Given the description of an element on the screen output the (x, y) to click on. 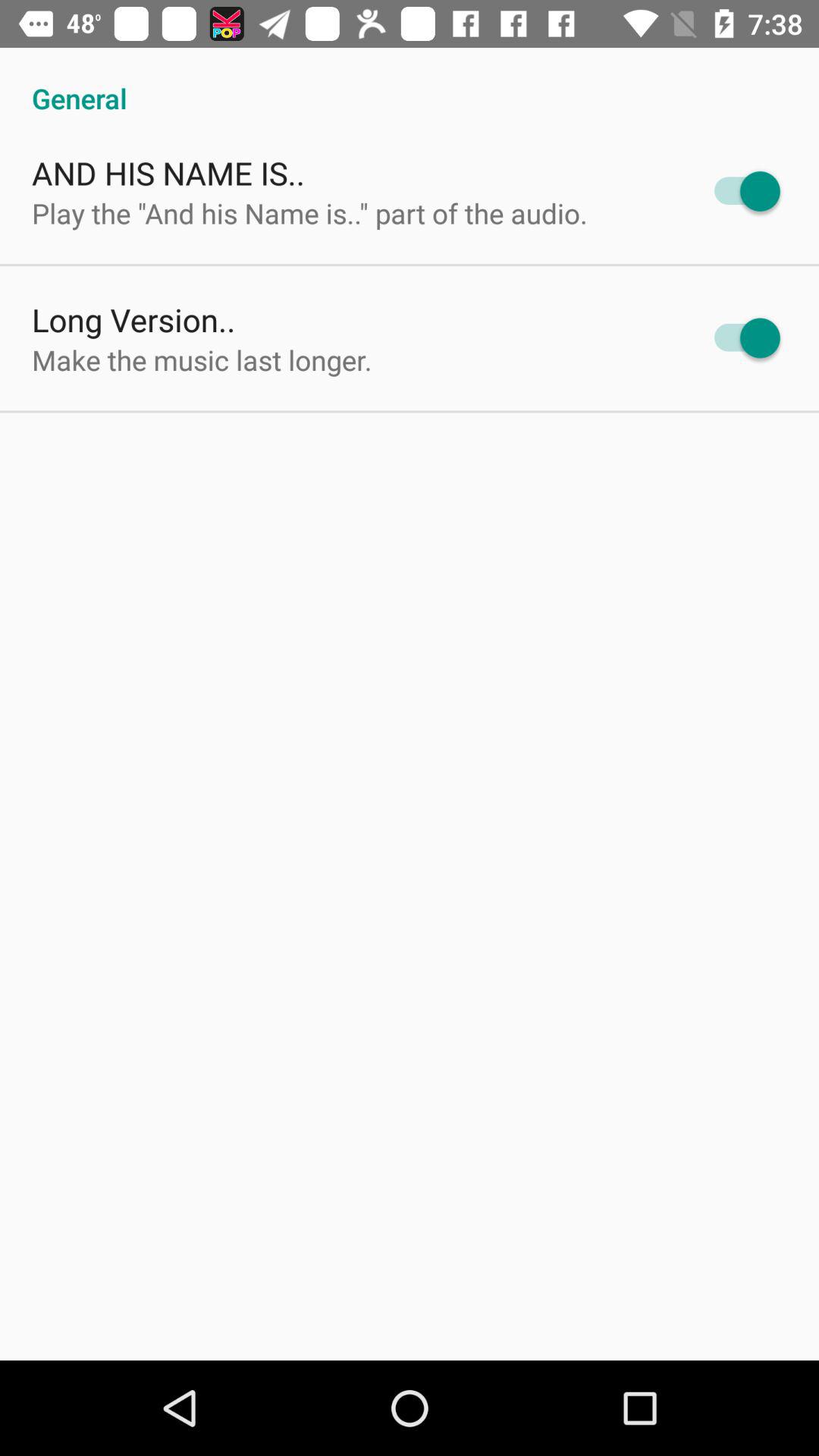
open the icon below the long version.. (201, 359)
